Given the description of an element on the screen output the (x, y) to click on. 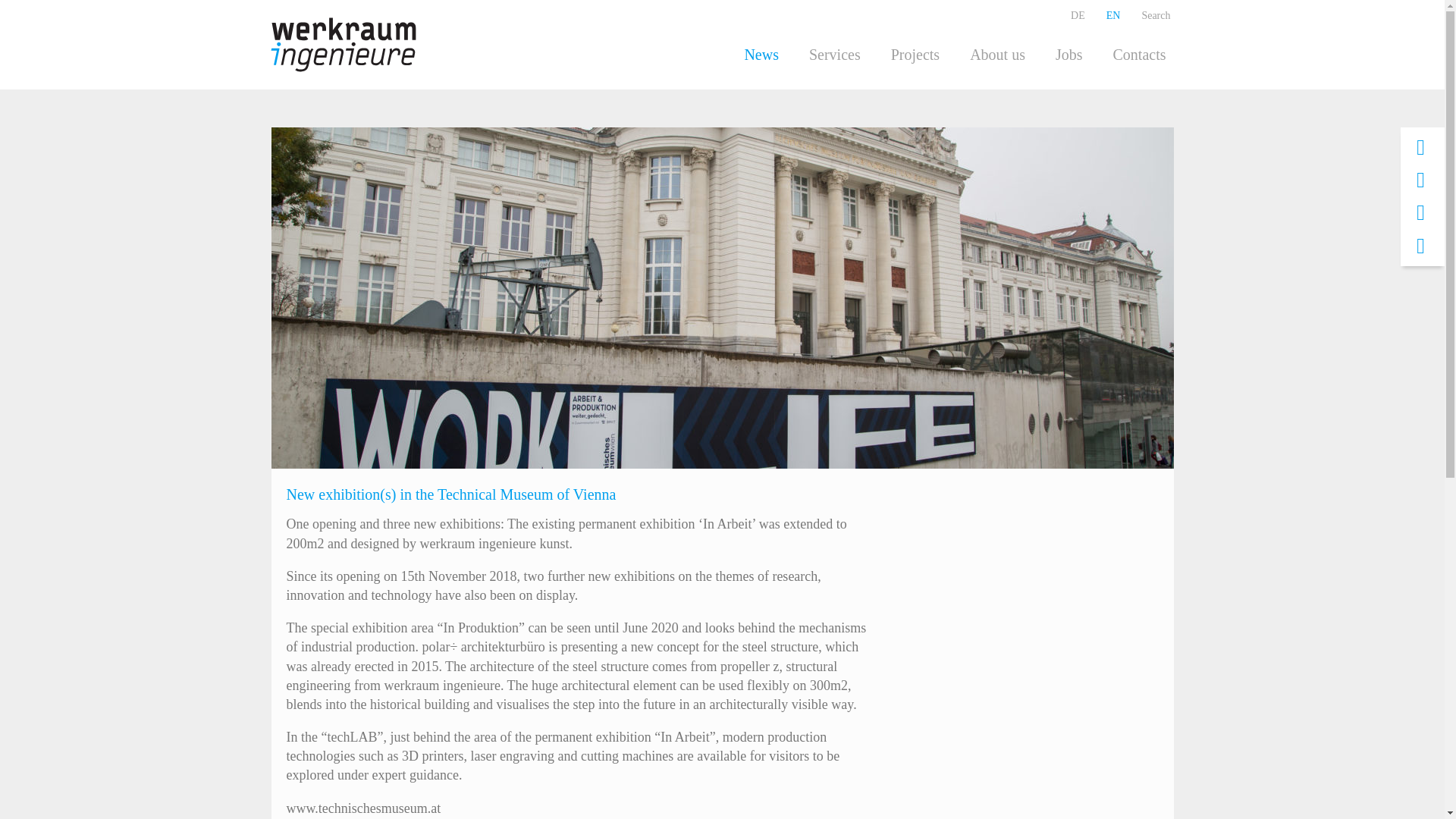
Services (834, 53)
Facebook (1421, 246)
Projects (915, 53)
News (761, 53)
XING (1421, 147)
DE (1077, 15)
Email (1421, 179)
LinkedIn (1421, 212)
EN (1113, 15)
Contacts (1138, 53)
